Given the description of an element on the screen output the (x, y) to click on. 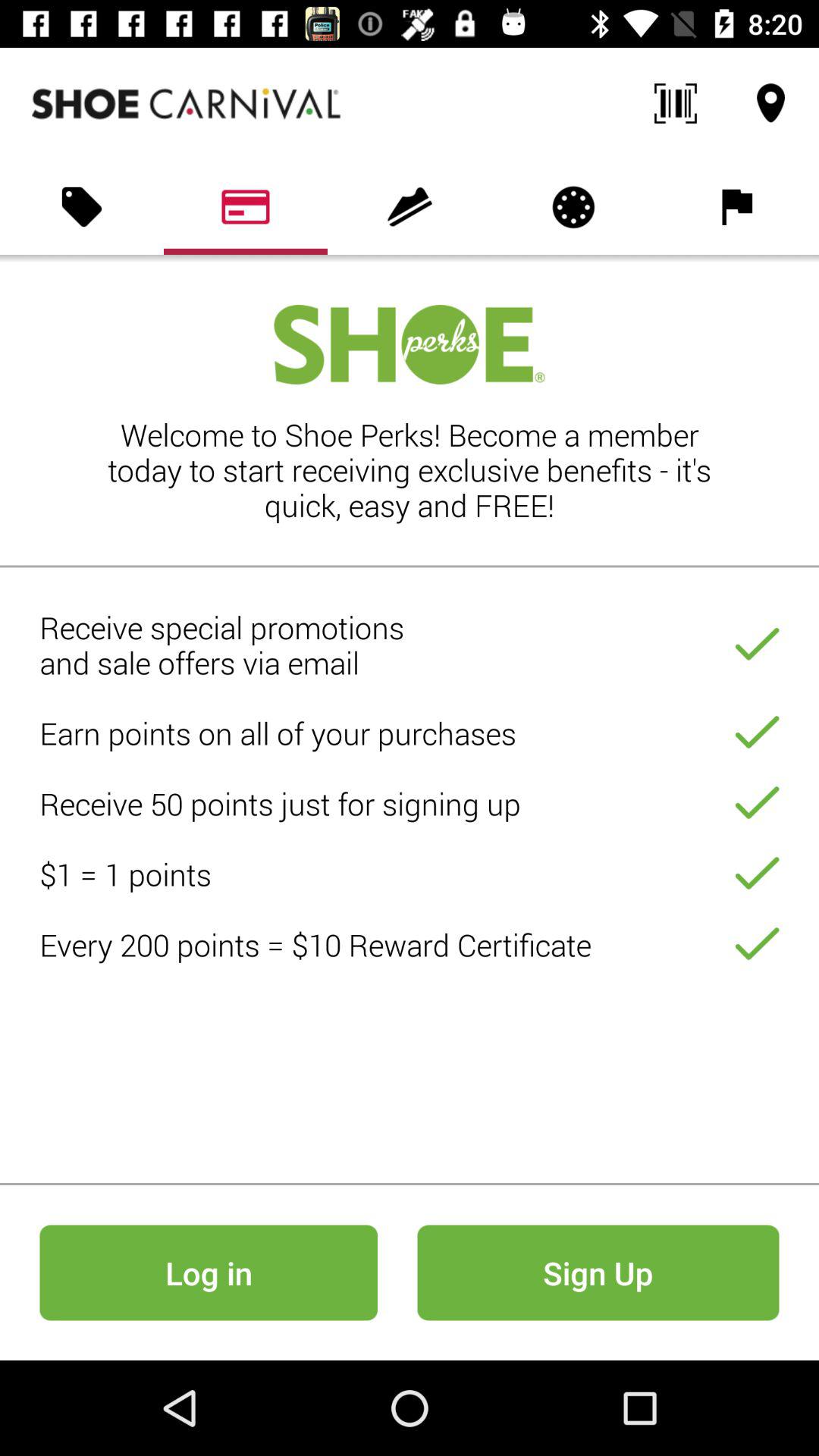
click icon next to the sign up icon (208, 1272)
